Given the description of an element on the screen output the (x, y) to click on. 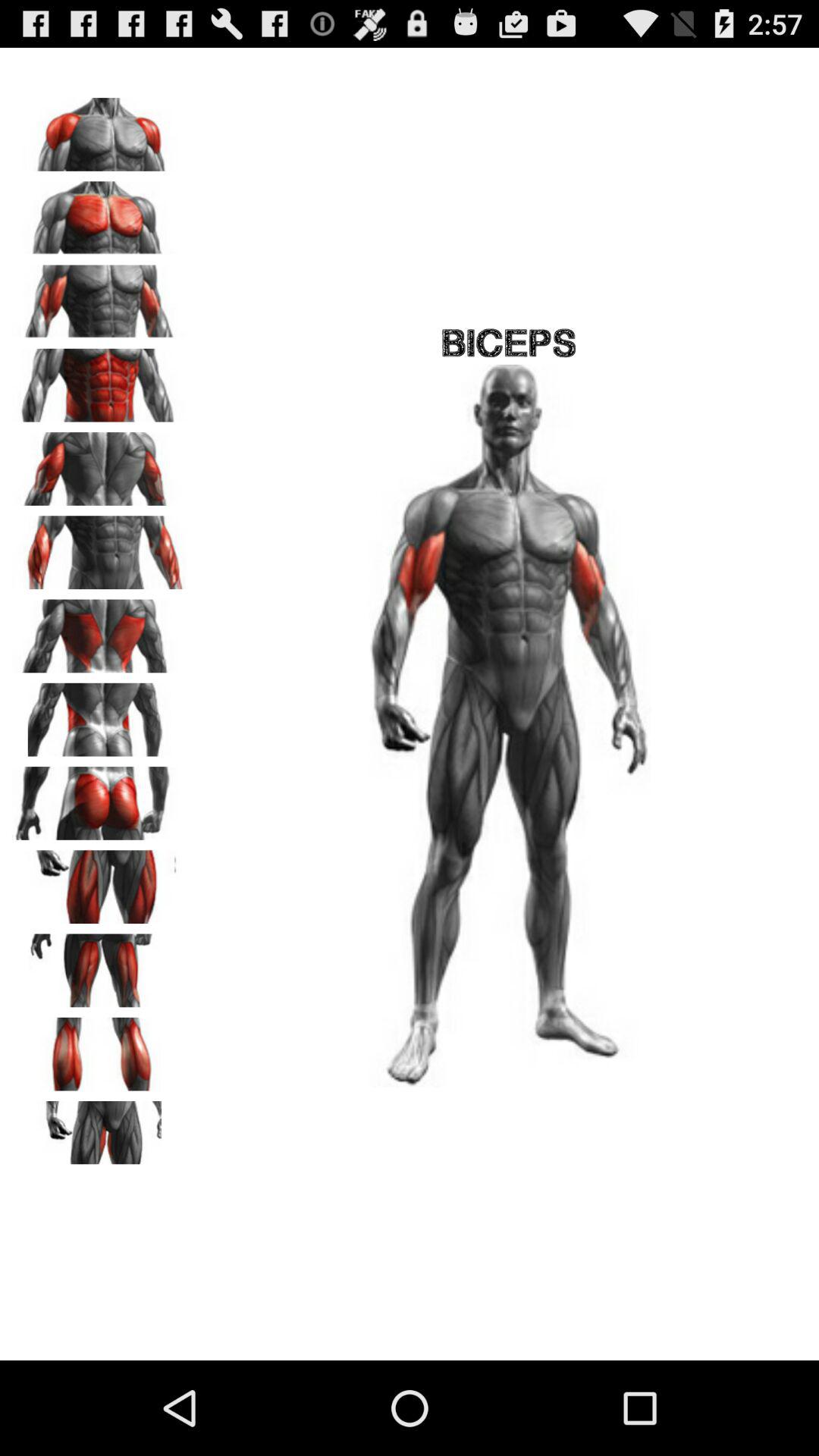
see inner thigh exercises (99, 1132)
